Given the description of an element on the screen output the (x, y) to click on. 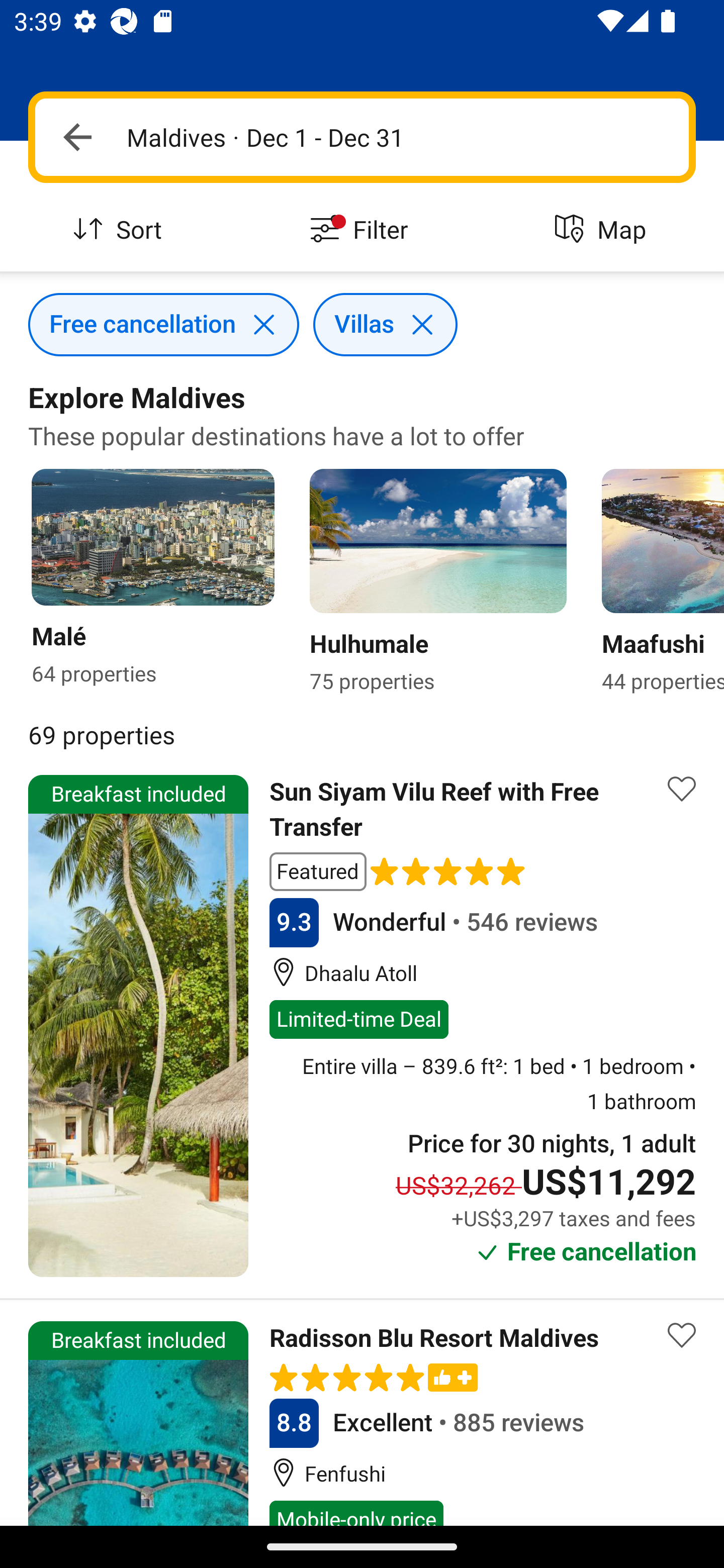
Navigate up Maldives · Dec 1 - Dec 31 (362, 136)
Navigate up (77, 136)
Sort (120, 230)
Filter (361, 230)
Map (603, 230)
Malé 64 properties (138, 582)
Hulhumale 75 properties (430, 582)
Save property to list (681, 788)
Save property to list (681, 1335)
